Given the description of an element on the screen output the (x, y) to click on. 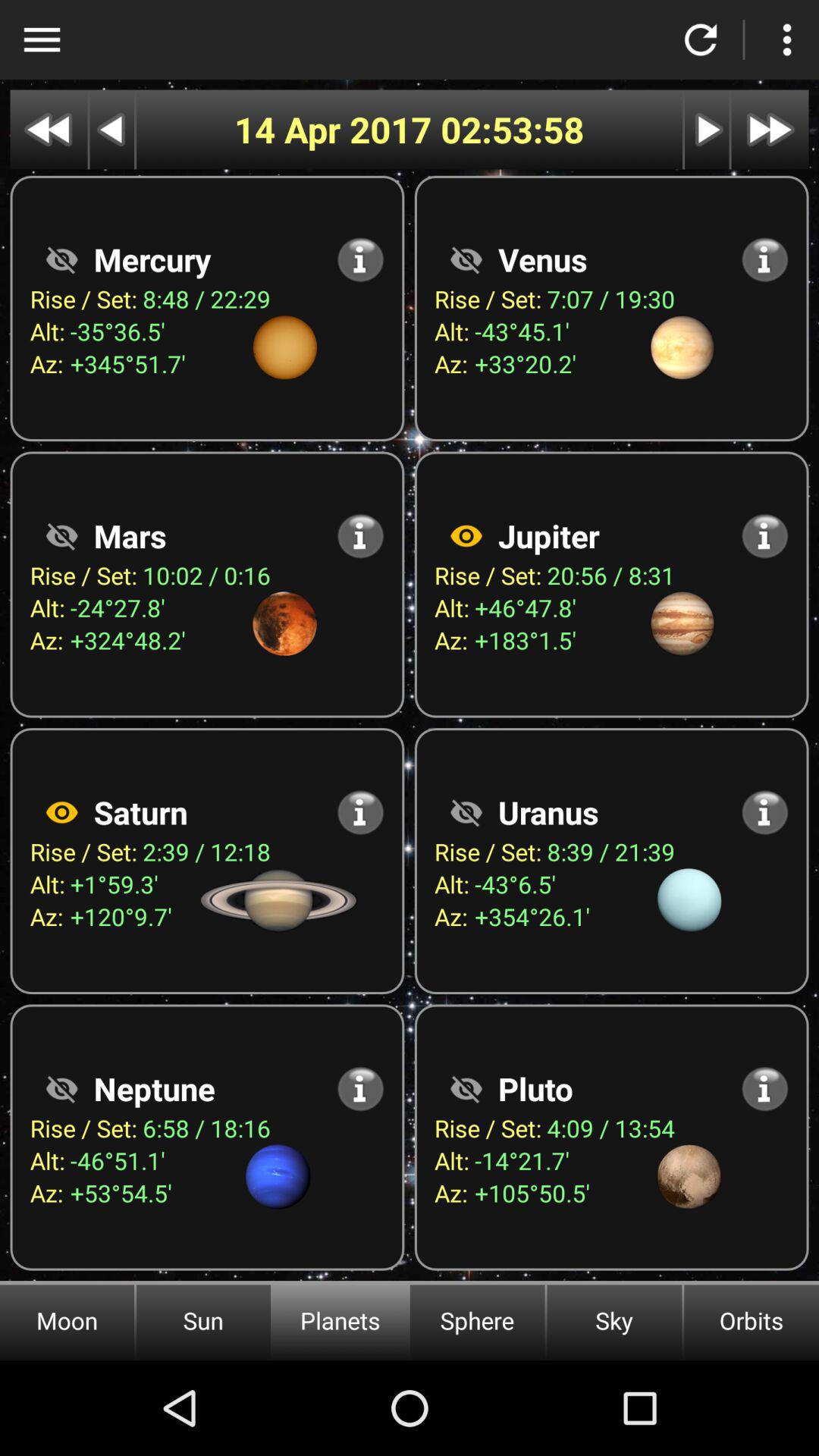
tap to launch picture (466, 536)
